Given the description of an element on the screen output the (x, y) to click on. 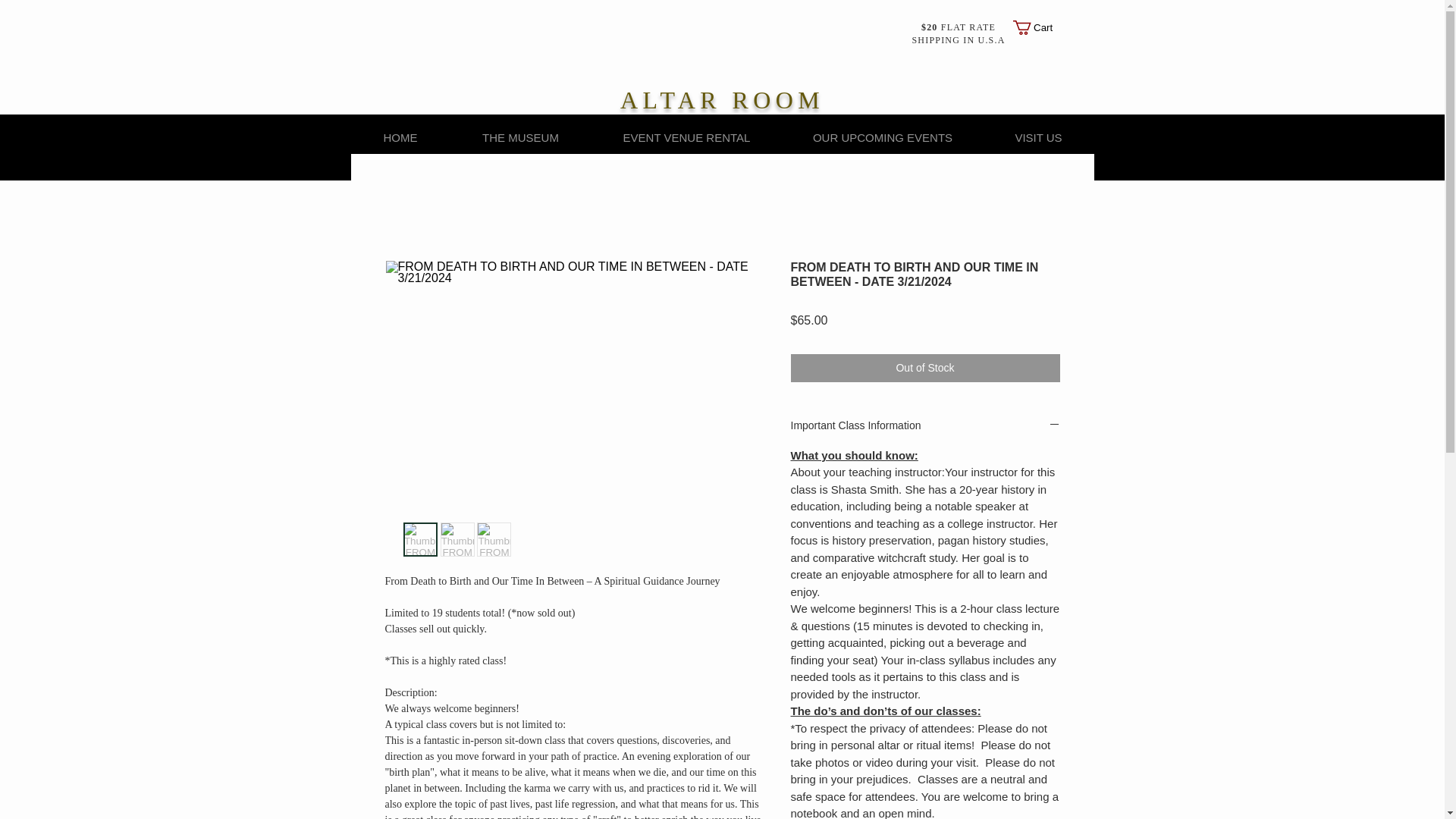
Cart (1041, 27)
OUR UPCOMING EVENTS (883, 137)
VISIT US (1037, 137)
Out of Stock (924, 367)
Important Class Information (924, 426)
EVENT VENUE RENTAL (687, 137)
HOME (399, 137)
Cart (1041, 27)
